Given the description of an element on the screen output the (x, y) to click on. 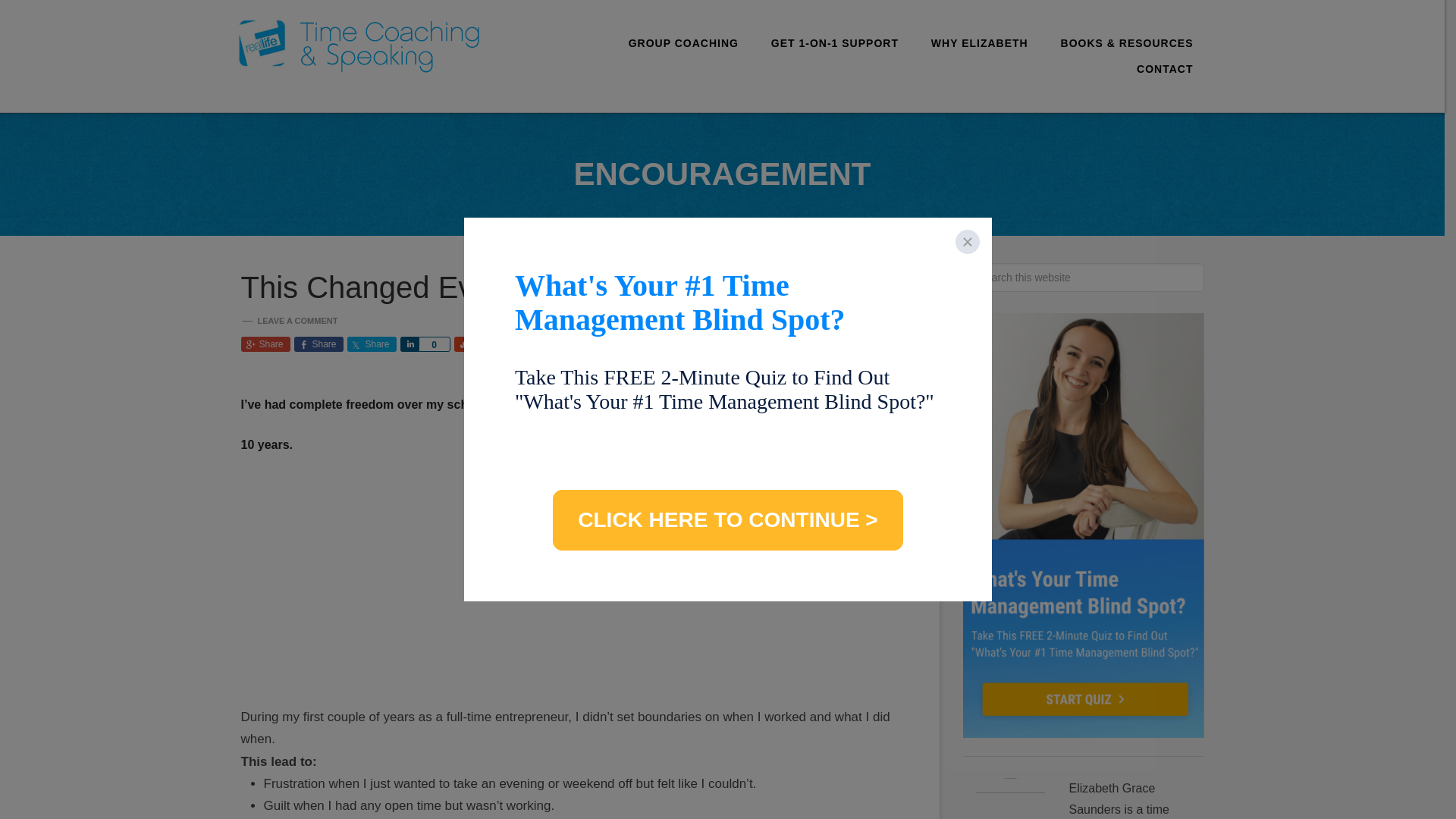
Share (371, 344)
0 (434, 344)
GROUP COACHING (683, 43)
Share (318, 344)
LEAVE A COMMENT (297, 320)
0 (487, 344)
This Changed Everything (410, 287)
Share (265, 344)
GET 1-ON-1 SUPPORT (834, 43)
WHY ELIZABETH (979, 43)
CONTACT (1164, 68)
Share (409, 344)
This Changed Everything (410, 287)
